Given the description of an element on the screen output the (x, y) to click on. 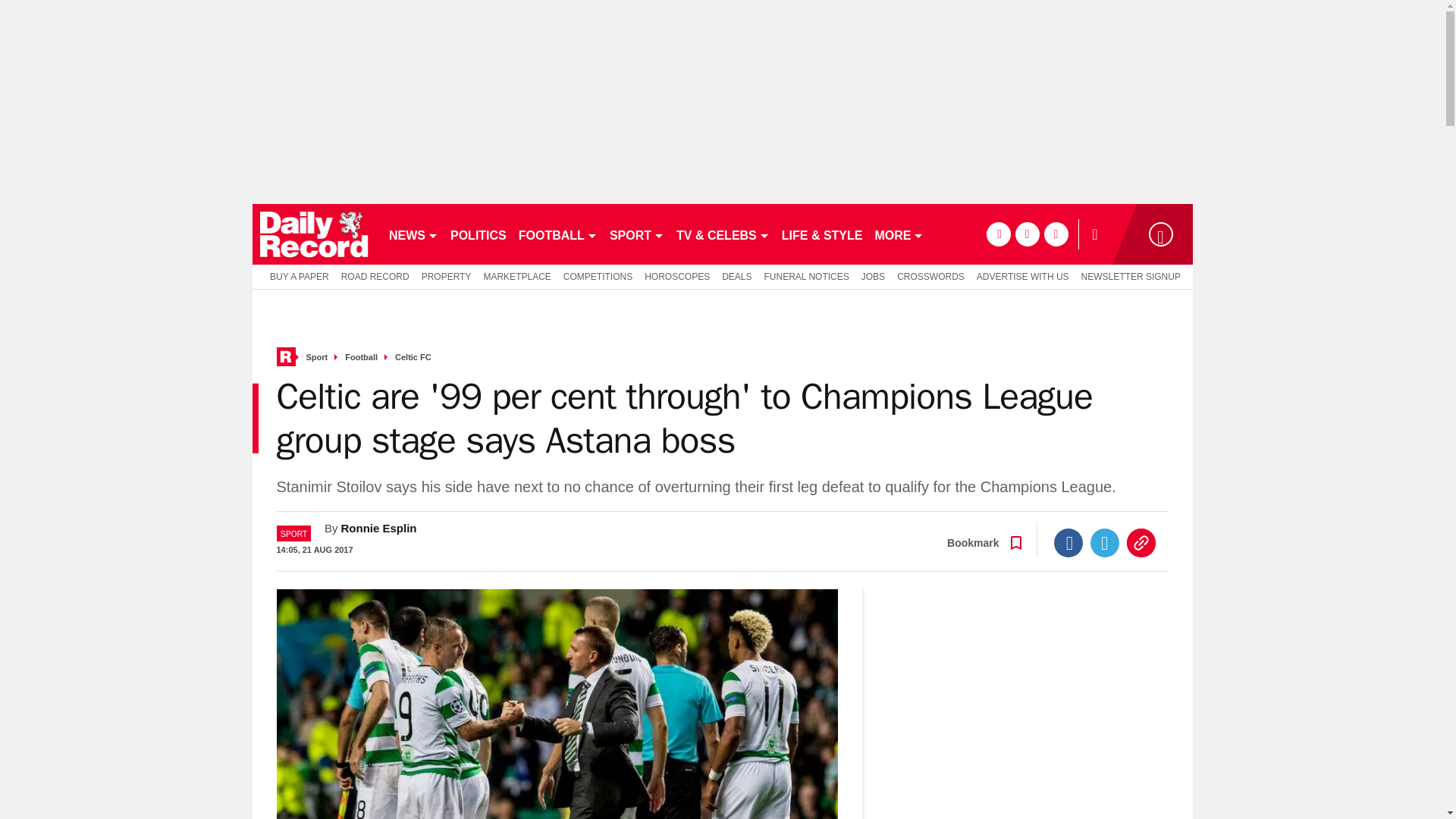
facebook (997, 233)
NEWS (413, 233)
instagram (1055, 233)
FOOTBALL (558, 233)
SPORT (636, 233)
dailyrecord (313, 233)
Twitter (1104, 542)
Facebook (1068, 542)
twitter (1026, 233)
POLITICS (478, 233)
